Given the description of an element on the screen output the (x, y) to click on. 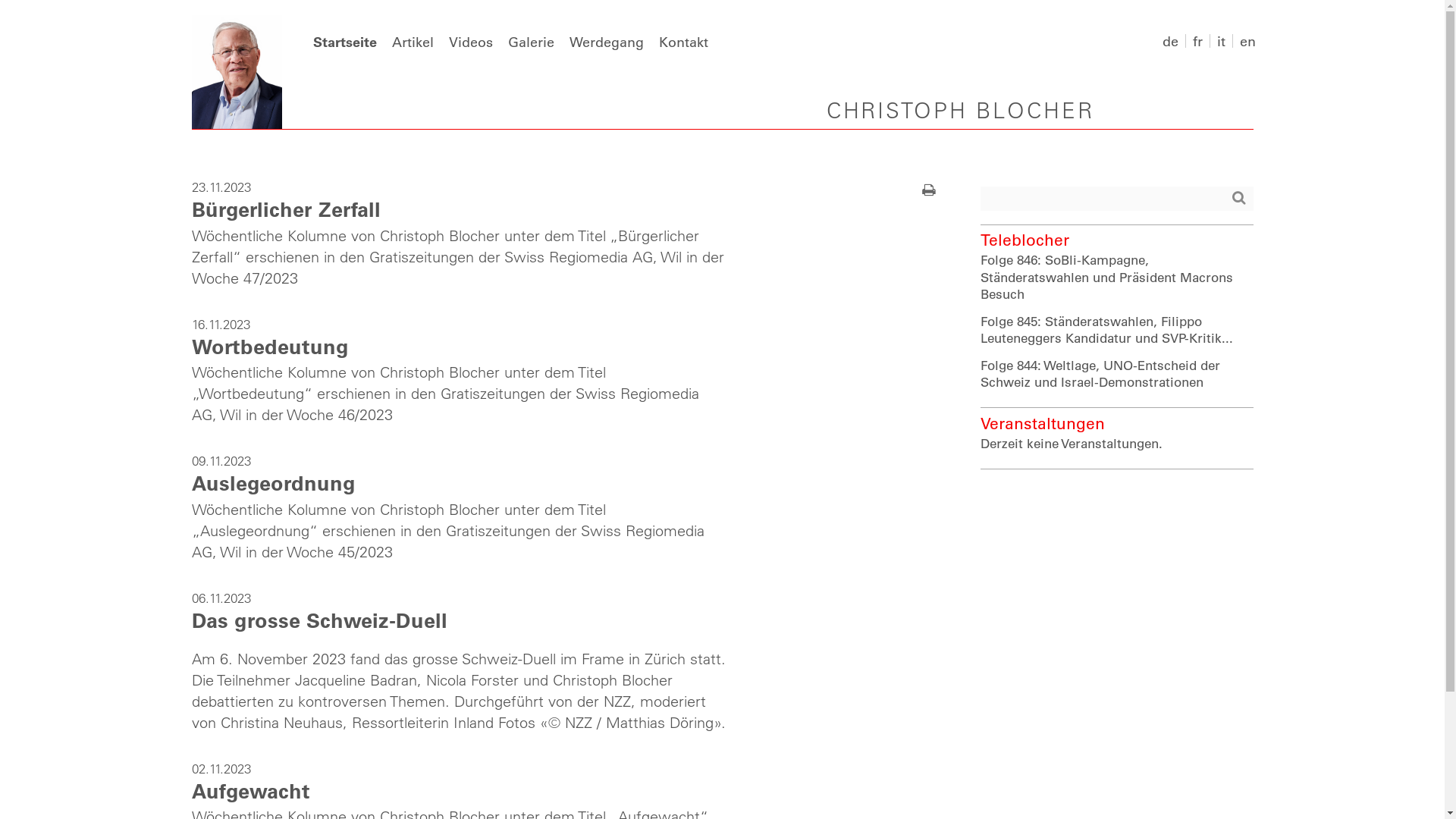
Auslegeordnung Element type: text (272, 481)
Werdegang Element type: text (605, 41)
de Element type: text (1169, 40)
Wortbedeutung Element type: text (269, 345)
Artikel Element type: text (412, 41)
Aufgewacht Element type: text (250, 789)
Kontakt Element type: text (682, 41)
en Element type: text (1247, 40)
Das grosse Schweiz-Duell Element type: text (318, 618)
Galerie Element type: text (531, 41)
Startseite Element type: text (344, 41)
it Element type: text (1220, 40)
Videos Element type: text (470, 41)
CHRISTOPH BLOCHER Element type: text (960, 112)
fr Element type: text (1196, 40)
